Given the description of an element on the screen output the (x, y) to click on. 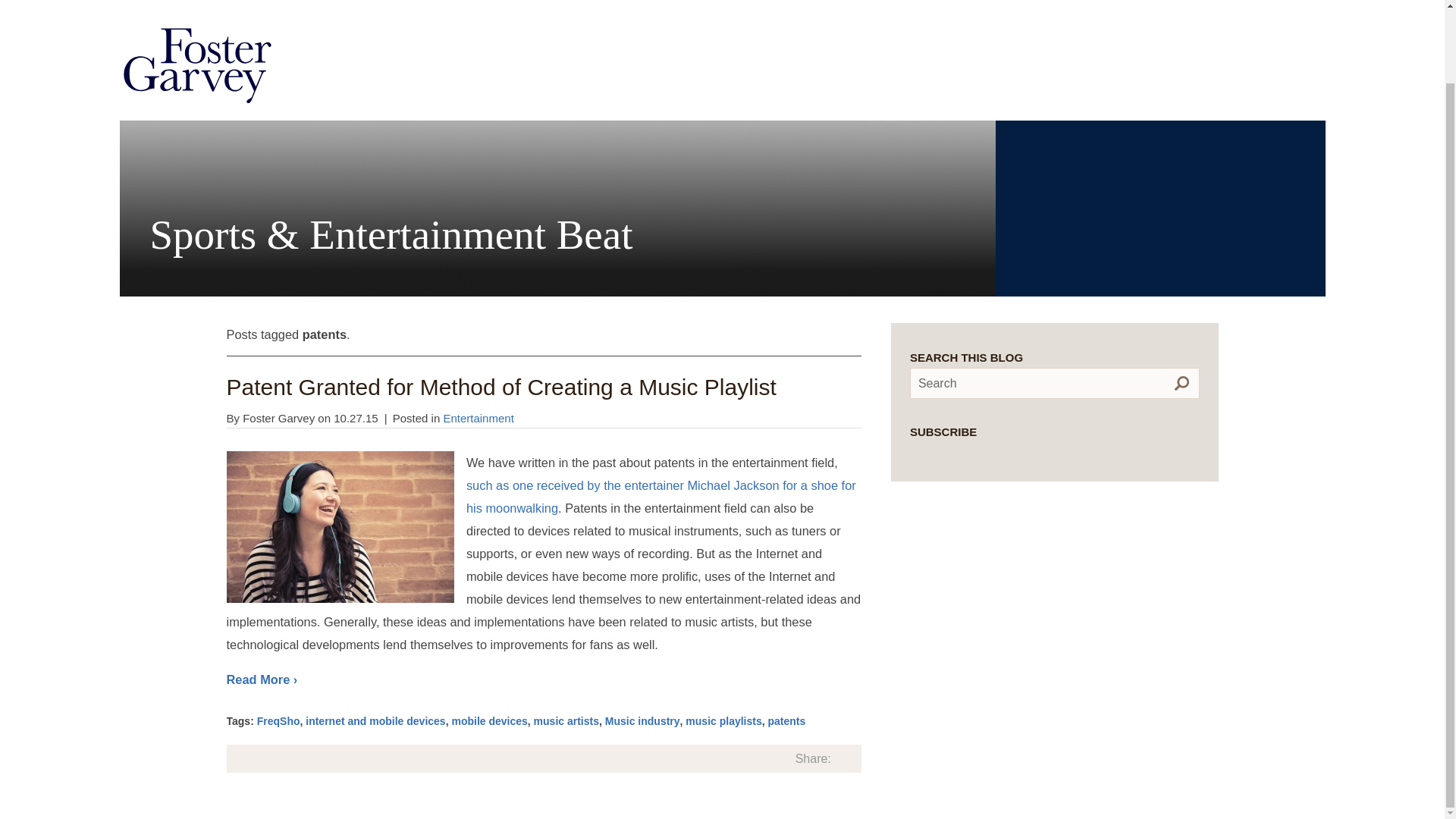
Patent Granted for Method of Creating a Music Playlist (500, 386)
mobile devices (489, 720)
music artists (566, 720)
Entertainment (477, 418)
patents (787, 720)
FreqSho (278, 720)
music playlists (723, 720)
internet and mobile devices (375, 720)
Music industry (642, 720)
